Given the description of an element on the screen output the (x, y) to click on. 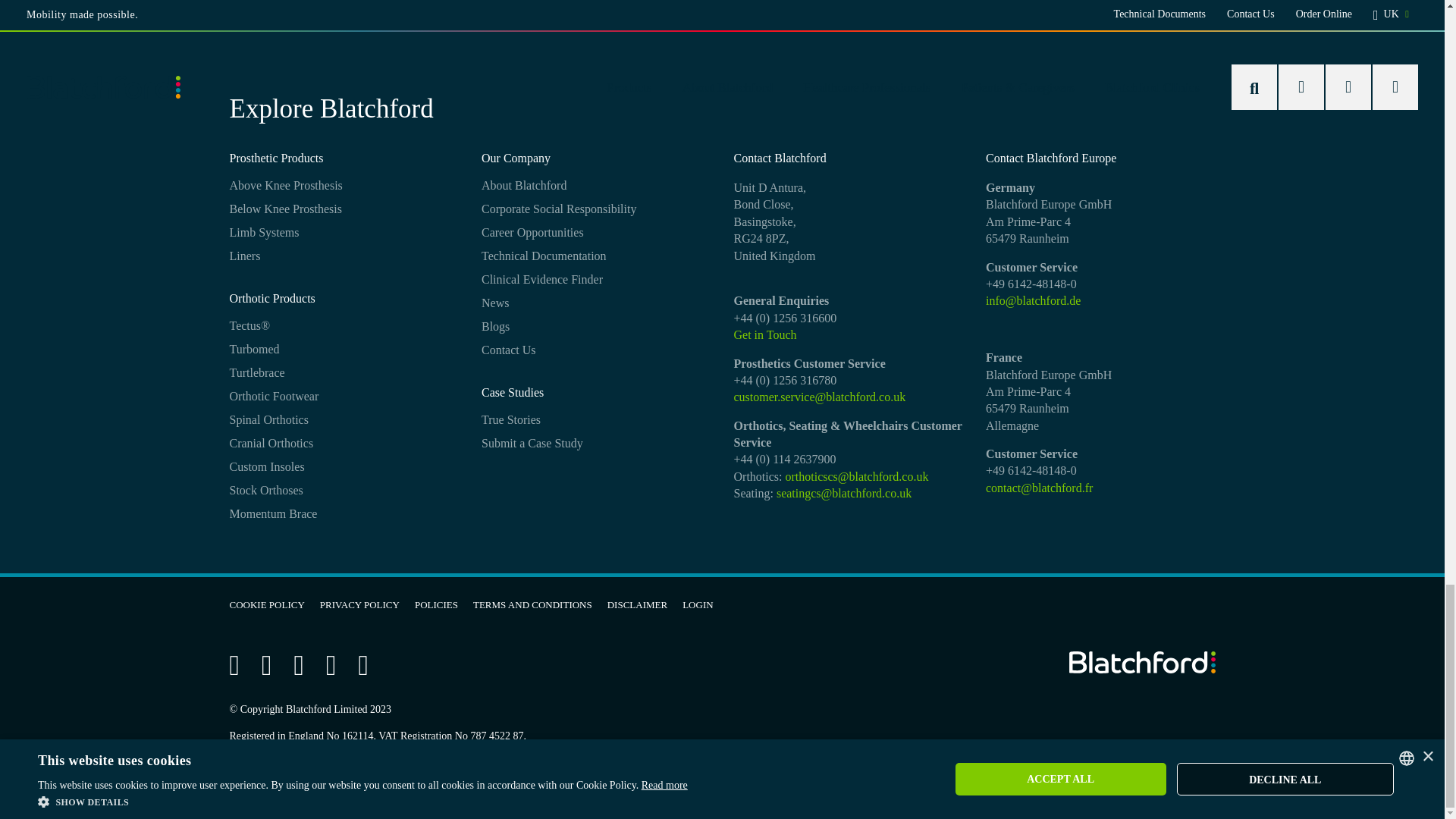
Contact Us (764, 334)
